Given the description of an element on the screen output the (x, y) to click on. 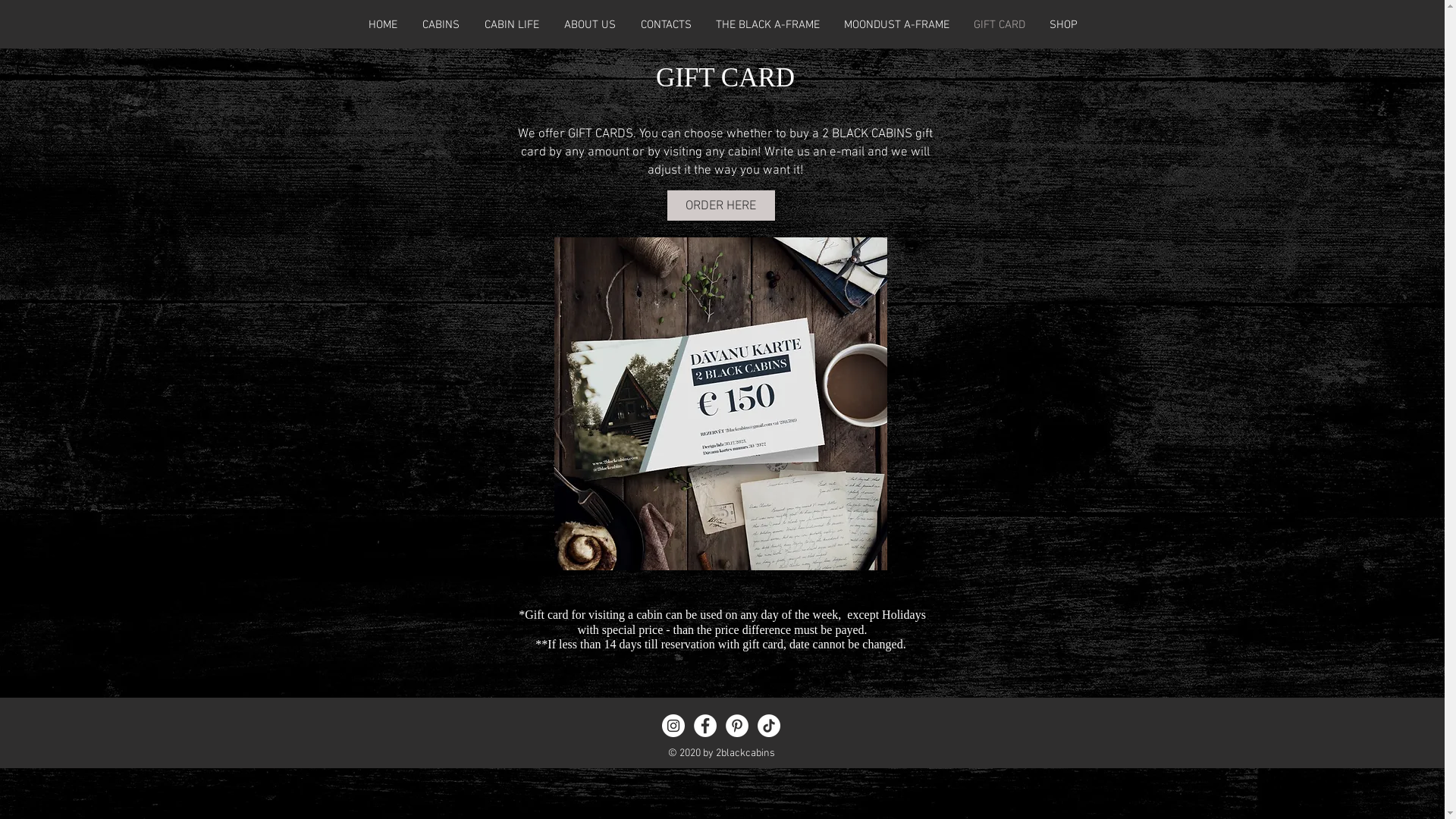
SHOP Element type: text (1063, 24)
CABIN LIFE Element type: text (511, 24)
GIFT CARD Element type: text (999, 24)
THE BLACK A-FRAME Element type: text (767, 24)
CONTACTS Element type: text (664, 24)
ABOUT US Element type: text (590, 24)
CABINS Element type: text (440, 24)
ORDER HERE Element type: text (721, 205)
HOME Element type: text (383, 24)
MOONDUST A-FRAME Element type: text (895, 24)
